Given the description of an element on the screen output the (x, y) to click on. 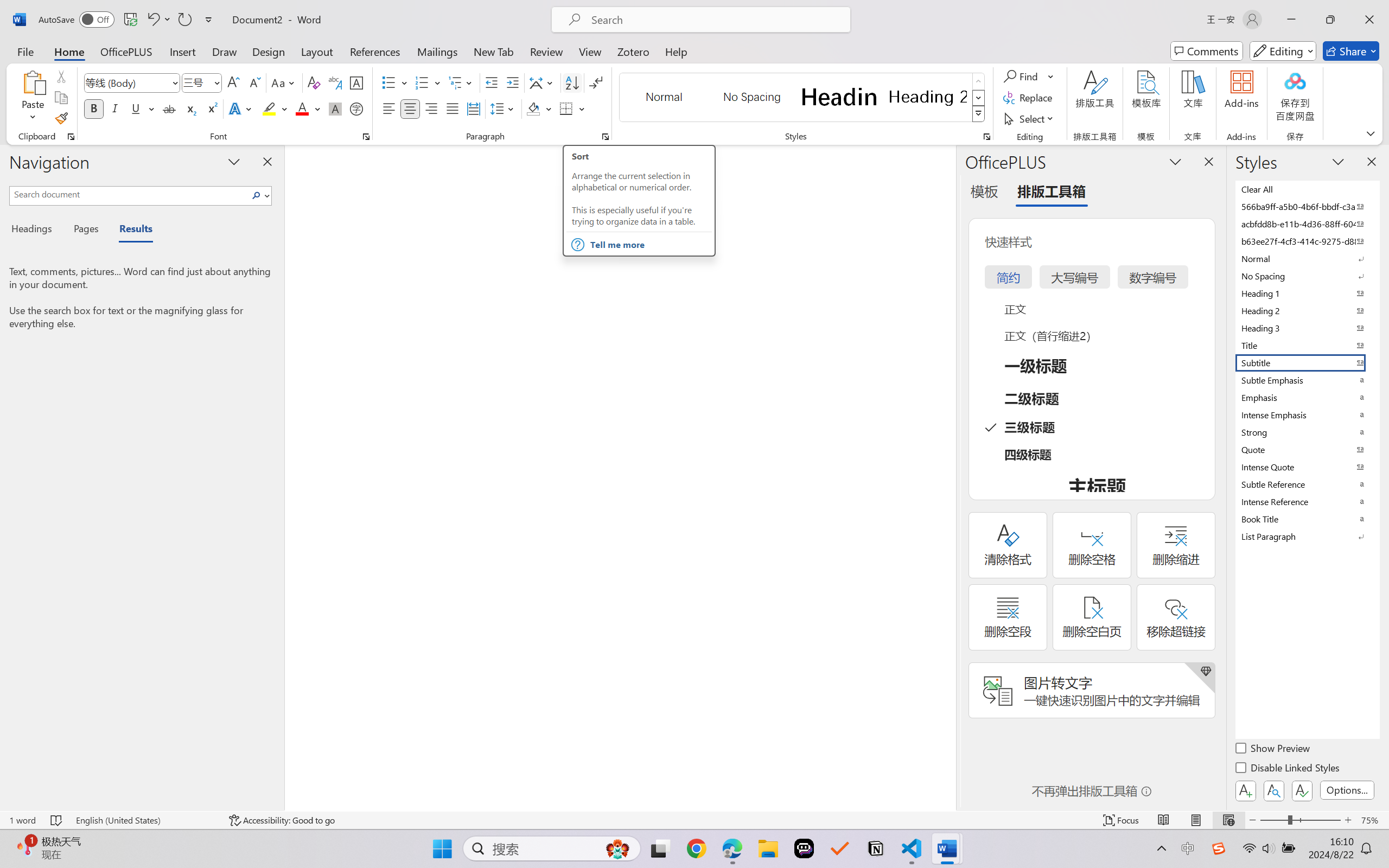
Help (675, 51)
Subtle Emphasis (1306, 379)
Grow Font (233, 82)
acbfdd8b-e11b-4d36-88ff-6049b138f862 (1306, 223)
View (589, 51)
Enclose Characters... (356, 108)
Minimize (1291, 19)
Styles (978, 113)
Options... (1346, 789)
Borders (566, 108)
OfficePLUS (126, 51)
